Given the description of an element on the screen output the (x, y) to click on. 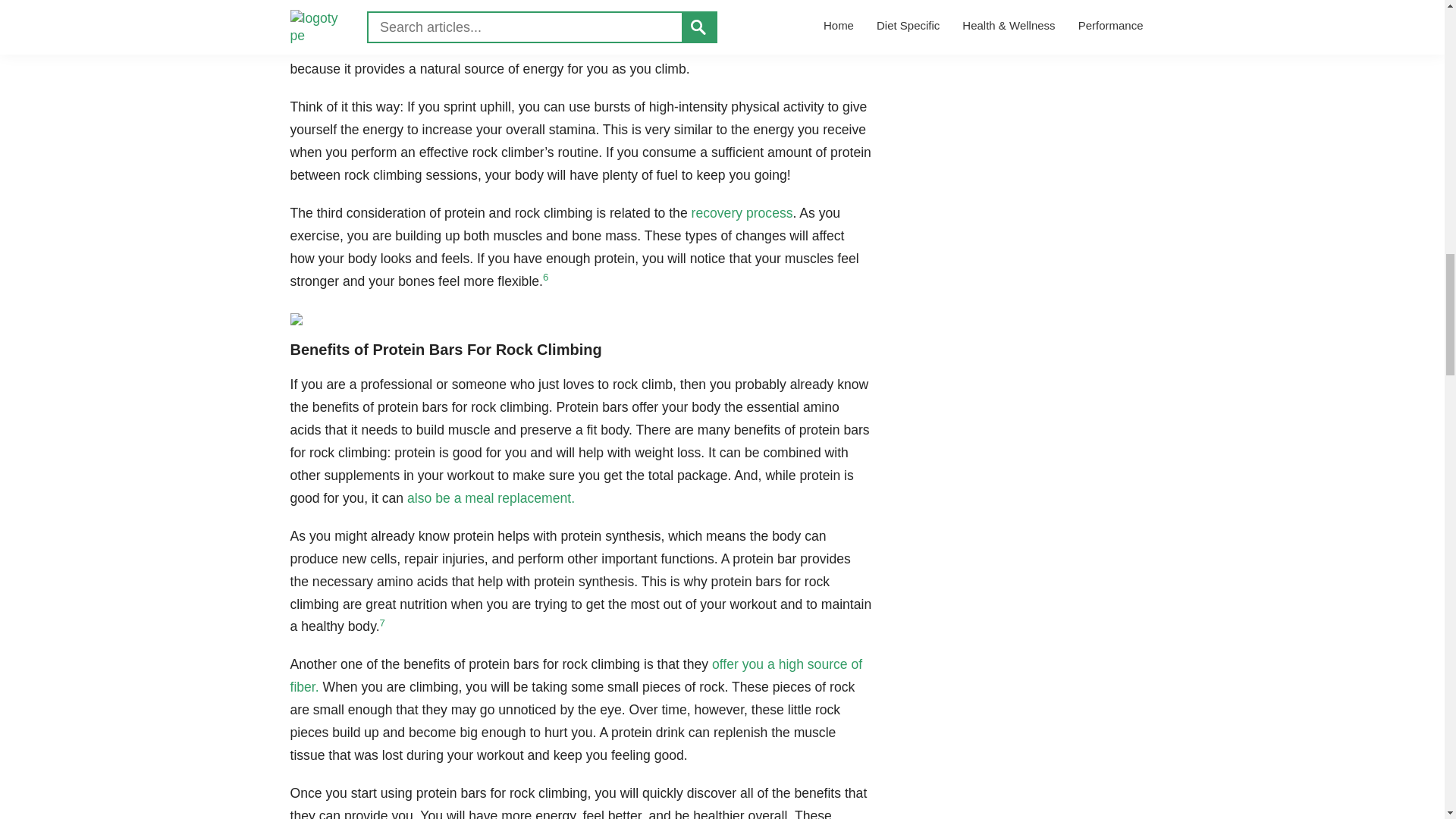
offer you a high source of fiber. (575, 675)
recovery process (742, 212)
also be a meal replacement. (491, 498)
